Given the description of an element on the screen output the (x, y) to click on. 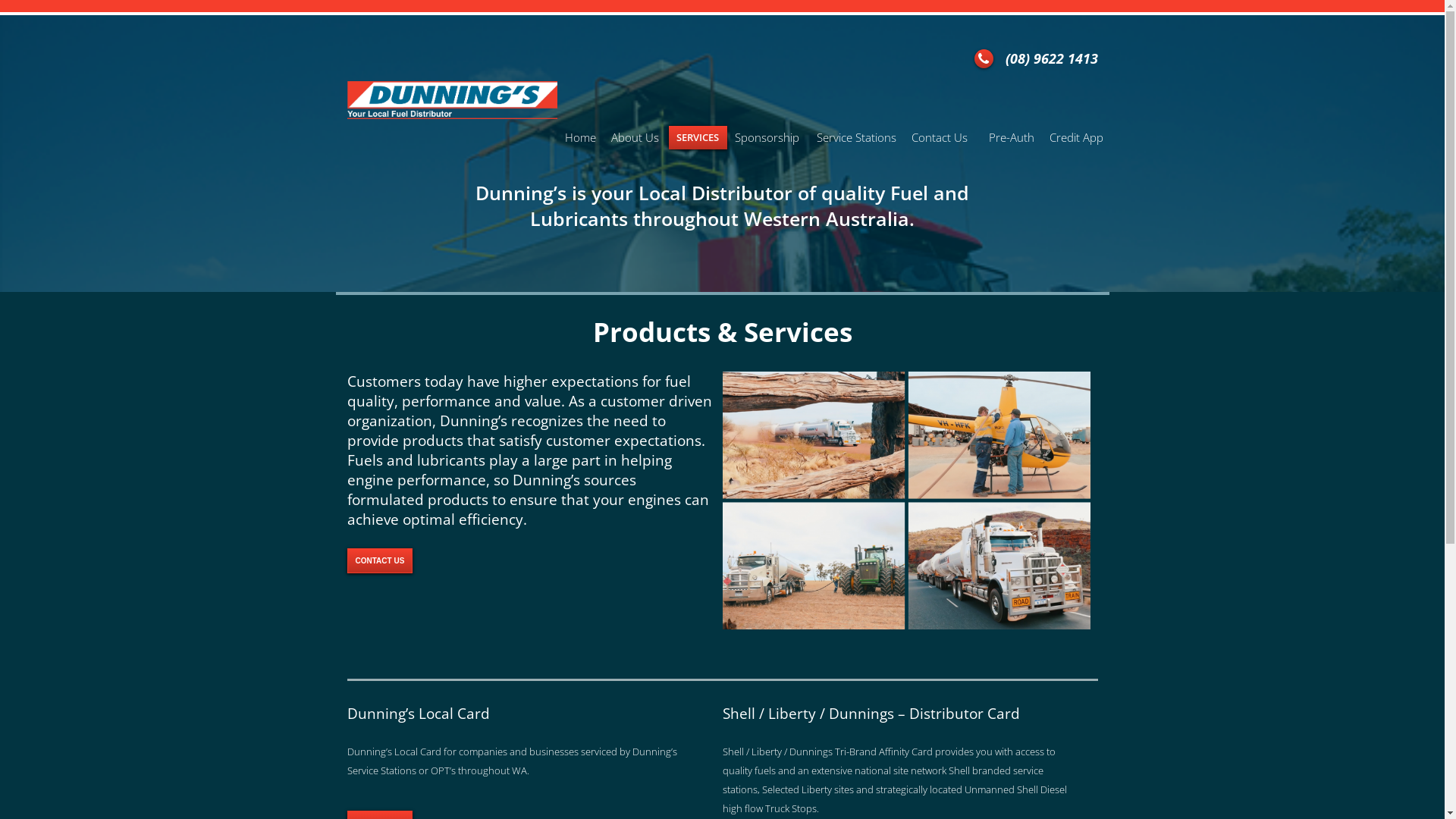
Home Element type: text (579, 137)
Pre-Auth Element type: text (1011, 137)
About Us Element type: text (635, 137)
Credit App Element type: text (1075, 137)
CONTACT US Element type: text (380, 559)
SERVICES Element type: text (697, 137)
Sponsorship Element type: text (767, 137)
Contact Us Element type: text (942, 137)
CONTACT US Element type: text (380, 560)
Service Stations Element type: text (855, 137)
Dunnings Element type: text (452, 100)
